Given the description of an element on the screen output the (x, y) to click on. 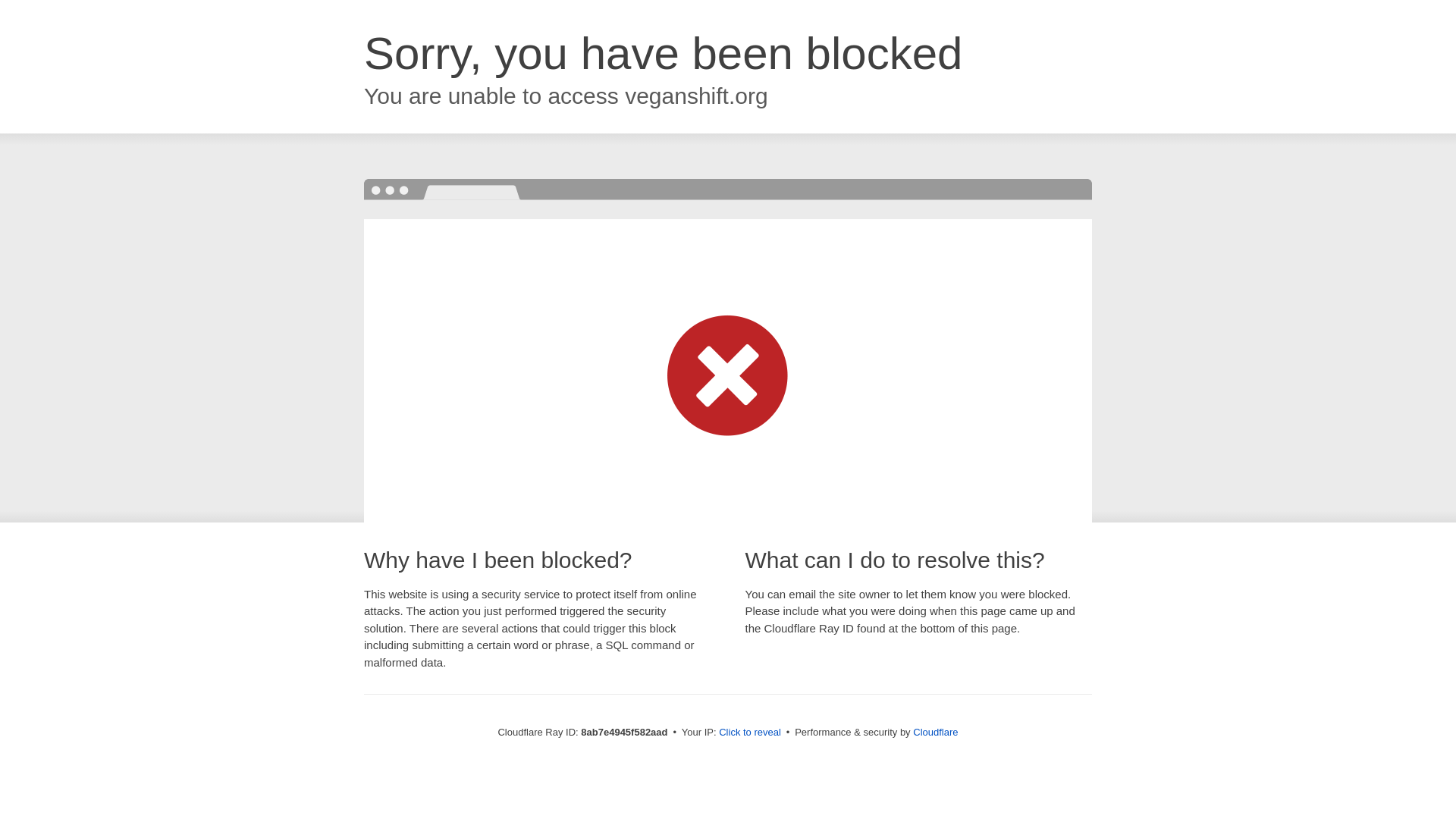
Cloudflare (935, 731)
Click to reveal (749, 732)
